Given the description of an element on the screen output the (x, y) to click on. 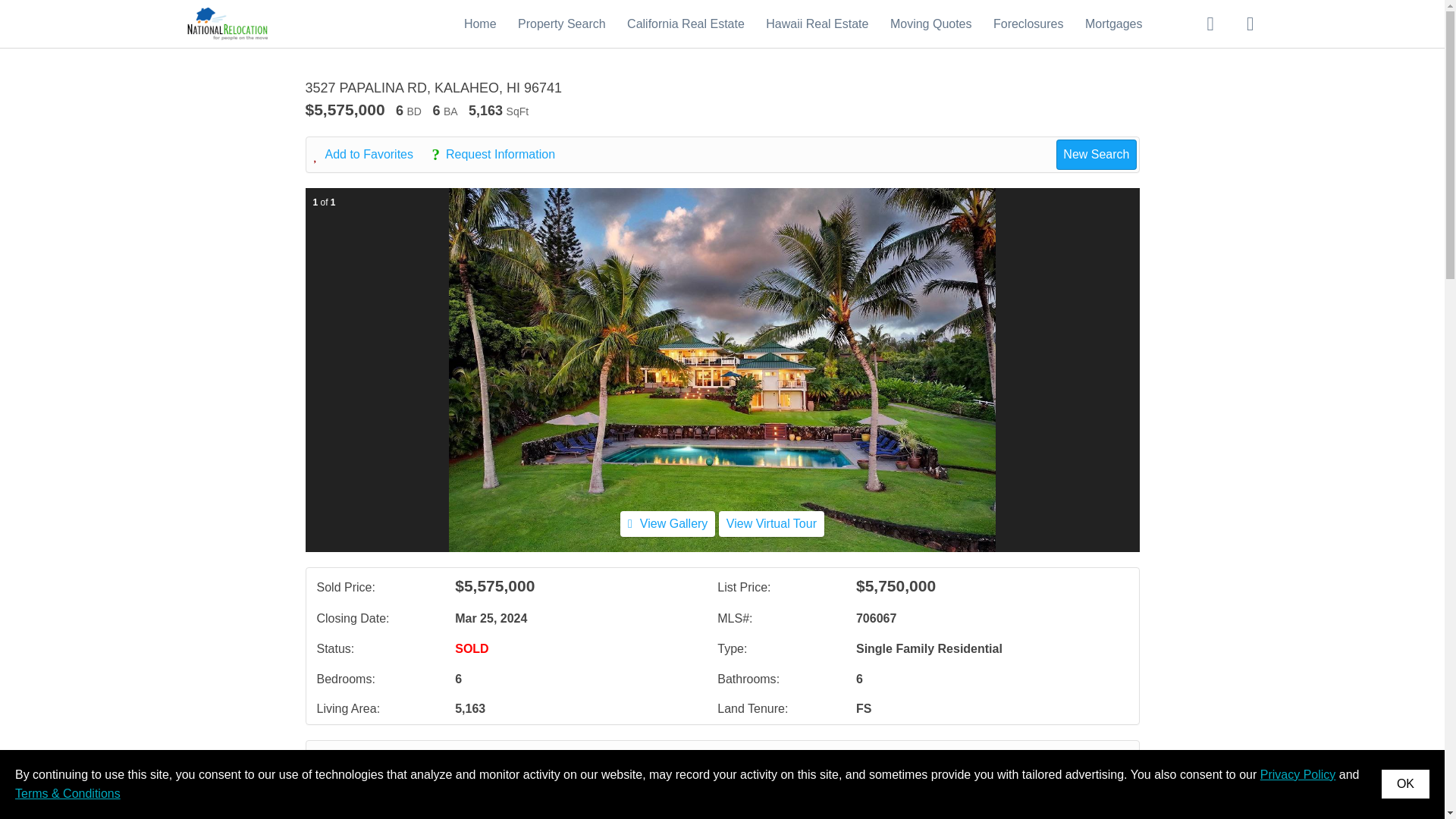
View Virtual Tour (771, 522)
Add to Favorites (371, 154)
View Virtual Tour (771, 524)
Property Search (561, 23)
Share (533, 757)
Contact Us (357, 757)
Home (480, 23)
View on Map (452, 757)
Mortgages (1113, 23)
Foreclosures (1027, 23)
View Gallery (667, 522)
Request Information (500, 154)
California Real Estate (685, 23)
Hawaii Real Estate (816, 23)
New Search (1090, 757)
